Given the description of an element on the screen output the (x, y) to click on. 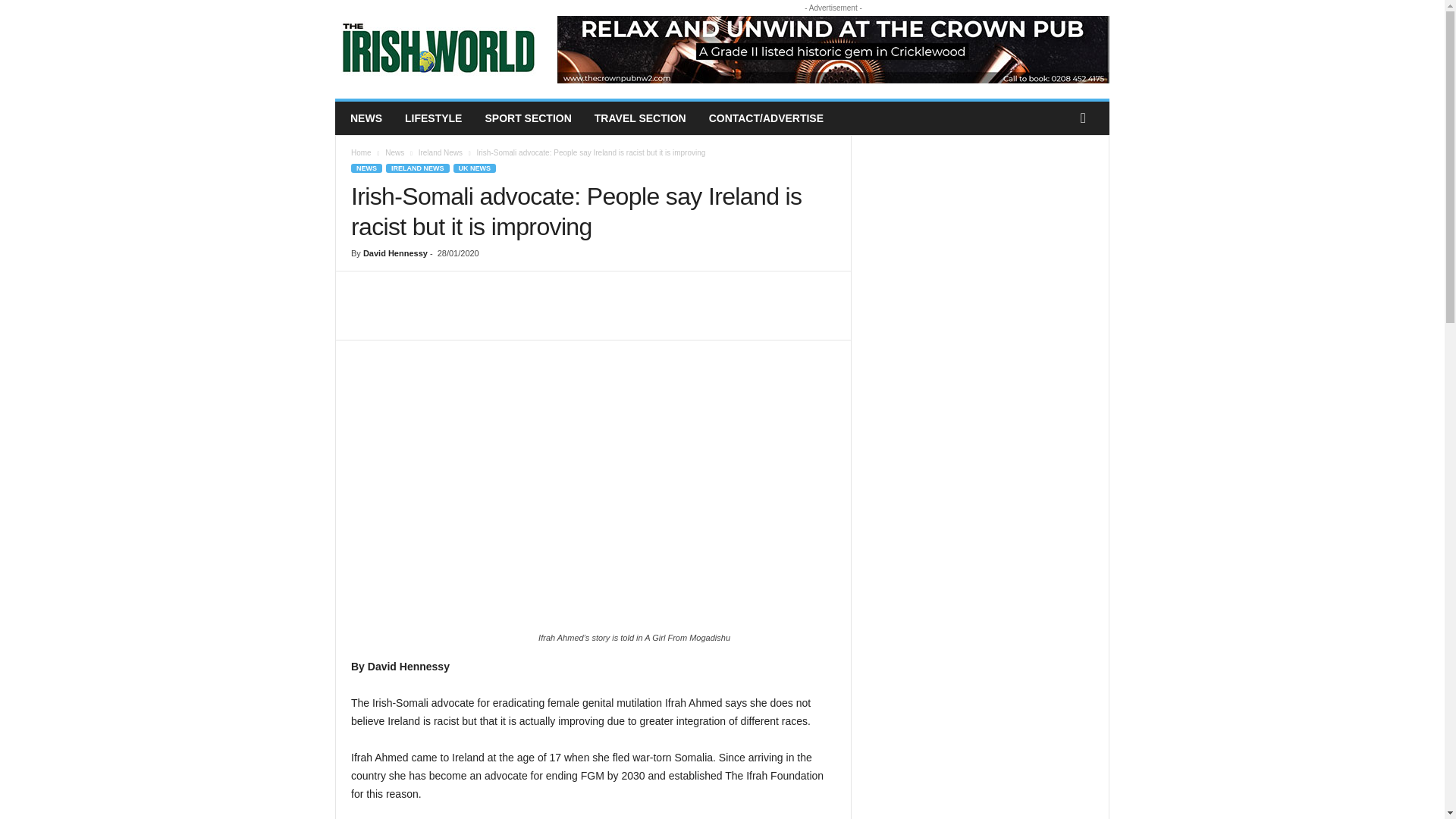
View all posts in News (394, 152)
View all posts in Ireland News (441, 152)
